Given the description of an element on the screen output the (x, y) to click on. 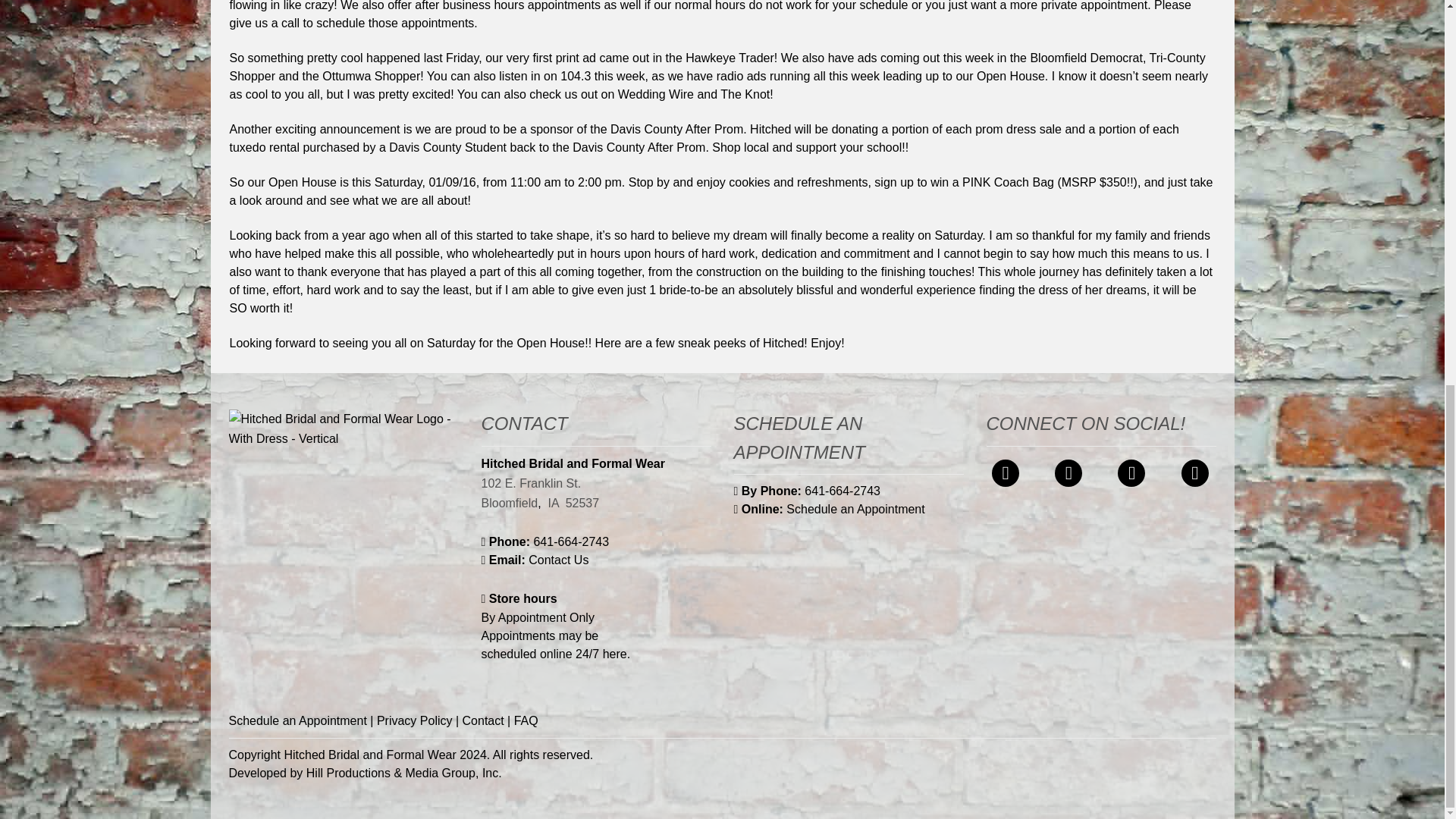
Call us today to schedule an appointment! (806, 490)
Call us today to schedule an appointment! (570, 541)
Schedule an Appointment (828, 508)
Hitched Bridal and Formal Wear Logo - With Dress - Vertical (343, 428)
641-664-2743 (570, 541)
